Given the description of an element on the screen output the (x, y) to click on. 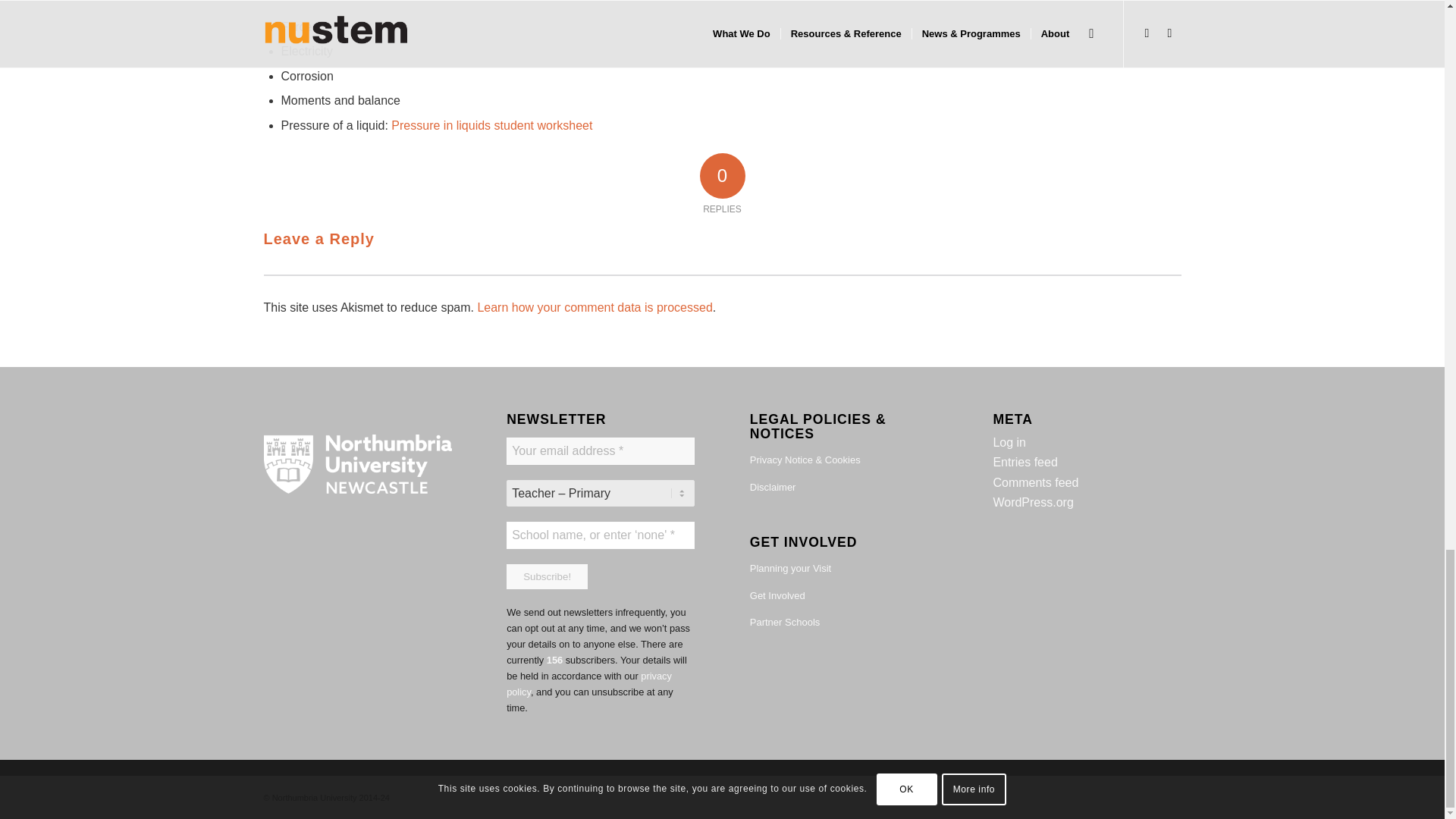
Your email address (600, 451)
Subscribe! (547, 576)
